Given the description of an element on the screen output the (x, y) to click on. 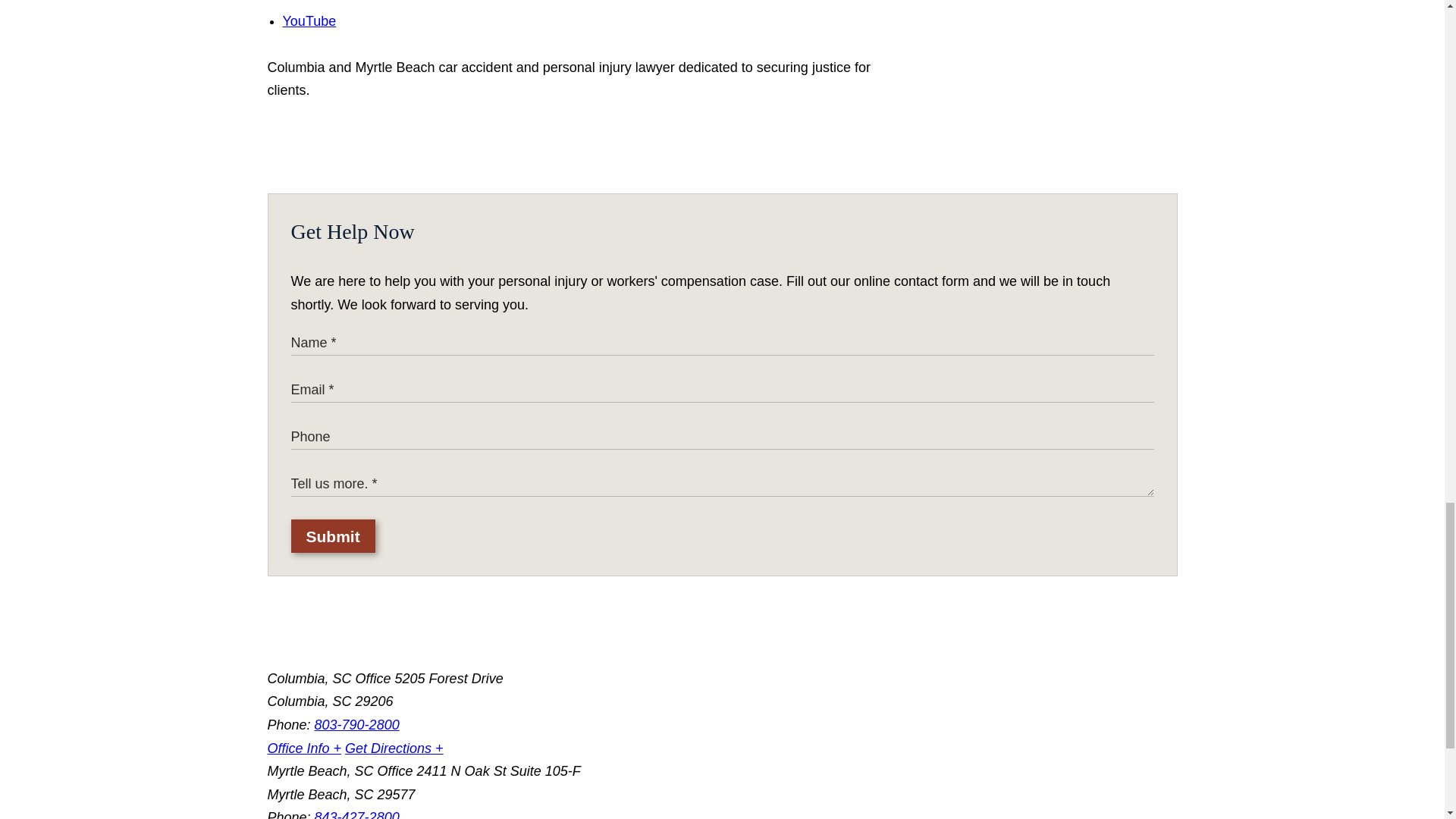
Watch me on YouTube (309, 20)
